Given the description of an element on the screen output the (x, y) to click on. 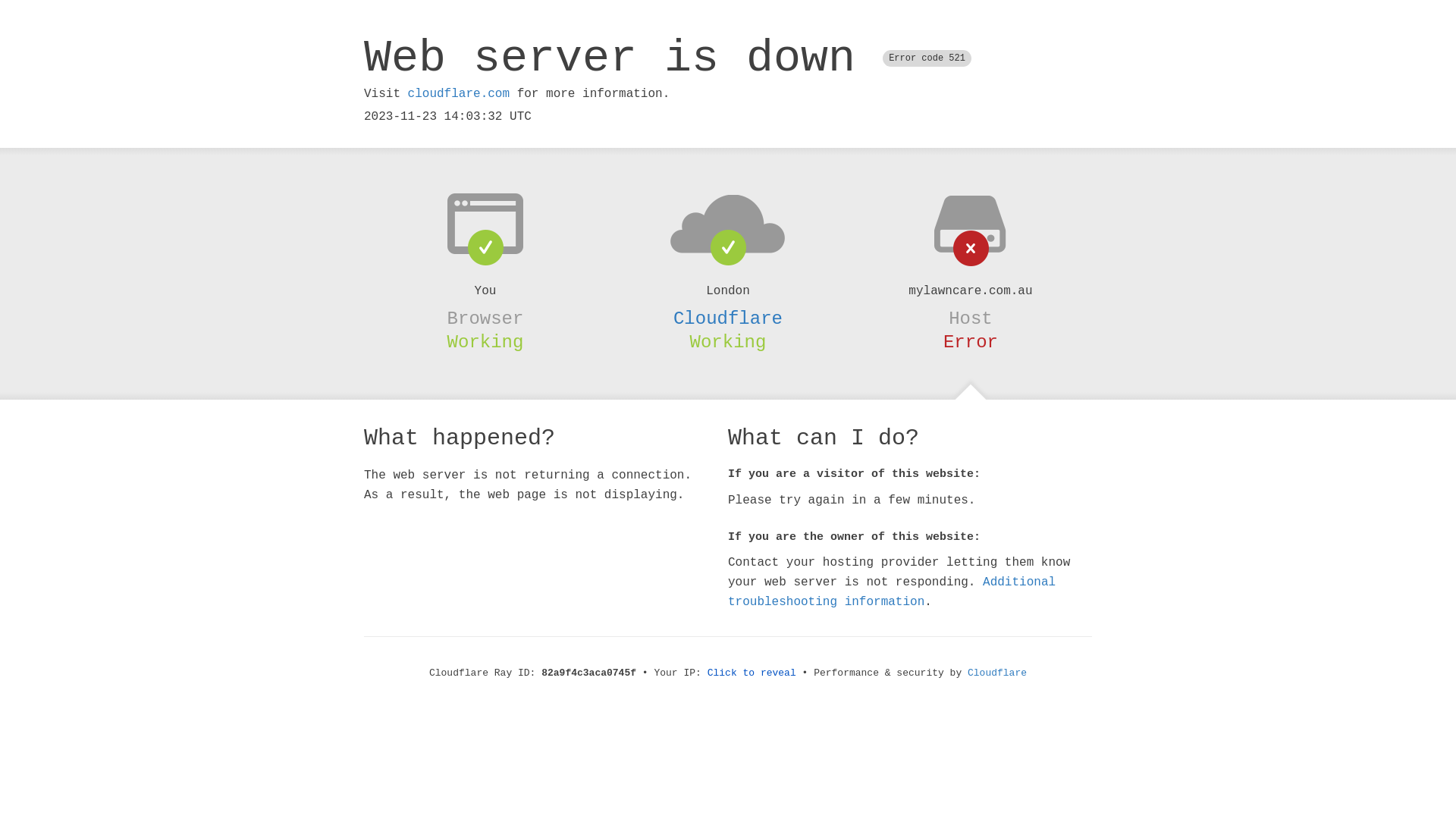
cloudflare.com Element type: text (458, 93)
Cloudflare Element type: text (996, 672)
Cloudflare Element type: text (727, 318)
Click to reveal Element type: text (751, 672)
Additional troubleshooting information Element type: text (891, 591)
